Given the description of an element on the screen output the (x, y) to click on. 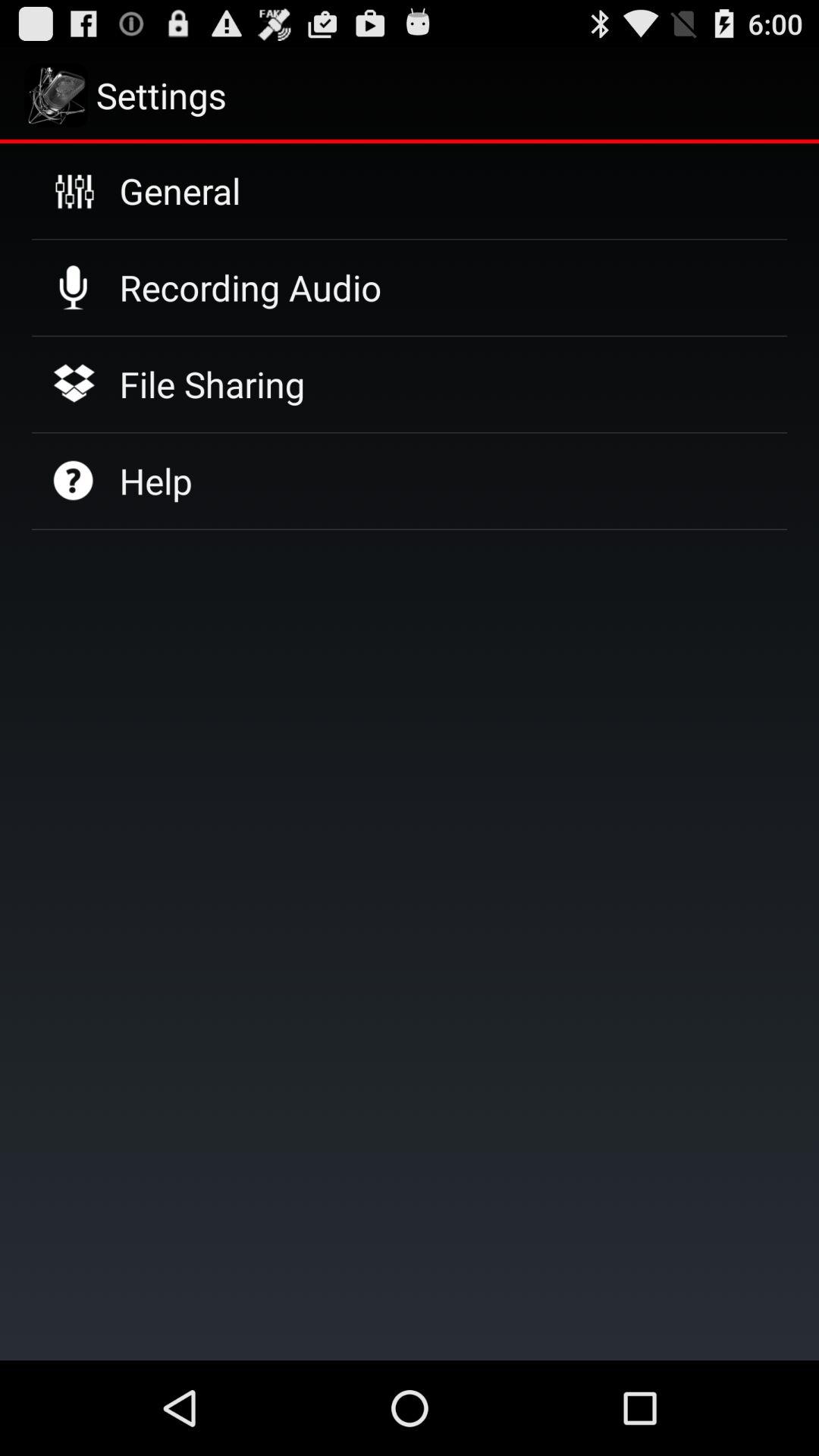
open the icon below the general item (250, 287)
